Given the description of an element on the screen output the (x, y) to click on. 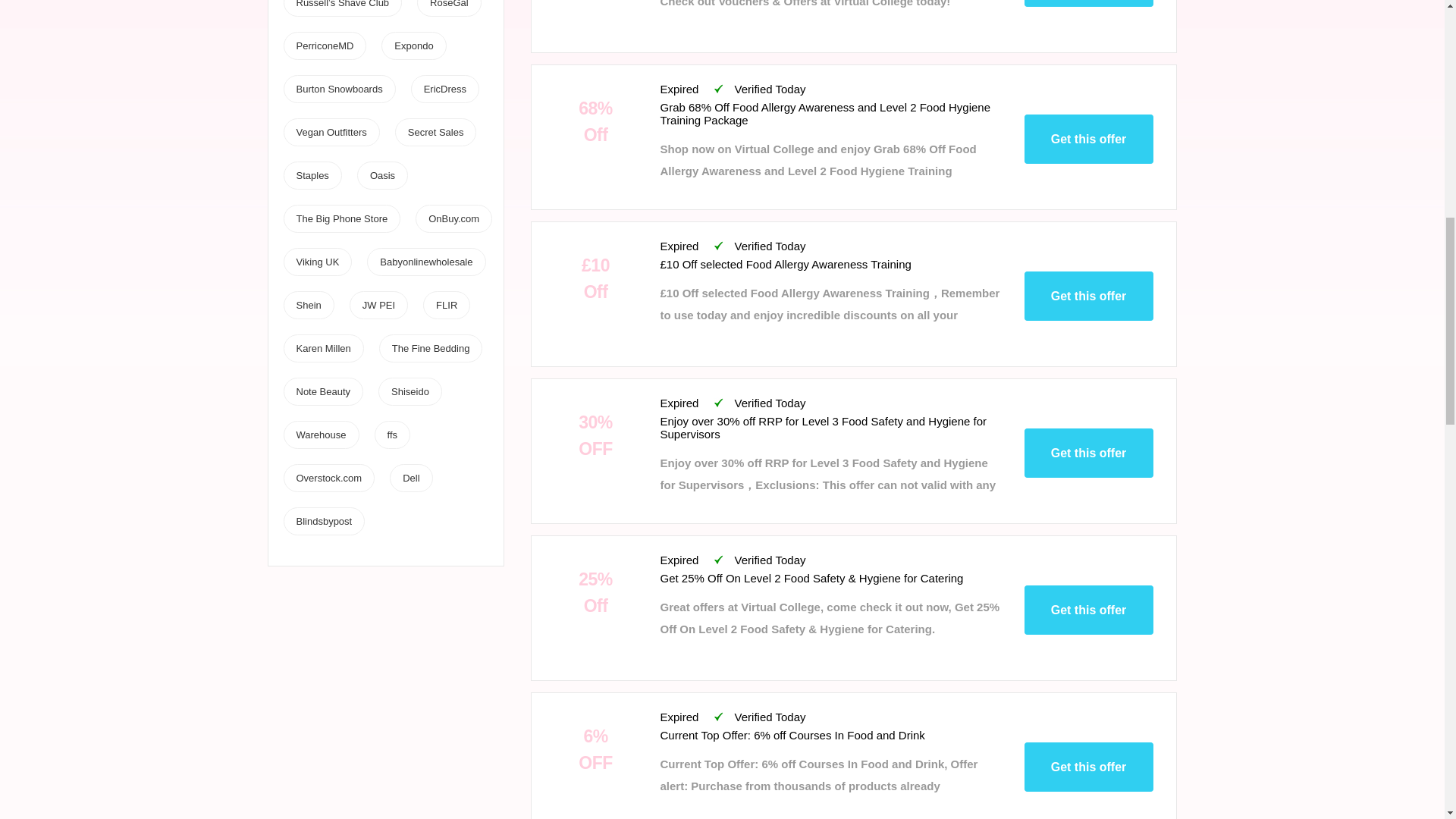
Burton Snowboards (338, 89)
Expondo (413, 45)
JW PEI (378, 305)
FLIR (446, 305)
Shein (307, 305)
The Big Phone Store (341, 218)
Vegan Outfitters (330, 132)
Staples (312, 174)
OnBuy.com (453, 218)
ffs (392, 434)
The Fine Bedding (430, 348)
Viking UK (317, 261)
Karen Millen (322, 348)
Babyonlinewholesale (425, 261)
Shiseido (410, 391)
